Given the description of an element on the screen output the (x, y) to click on. 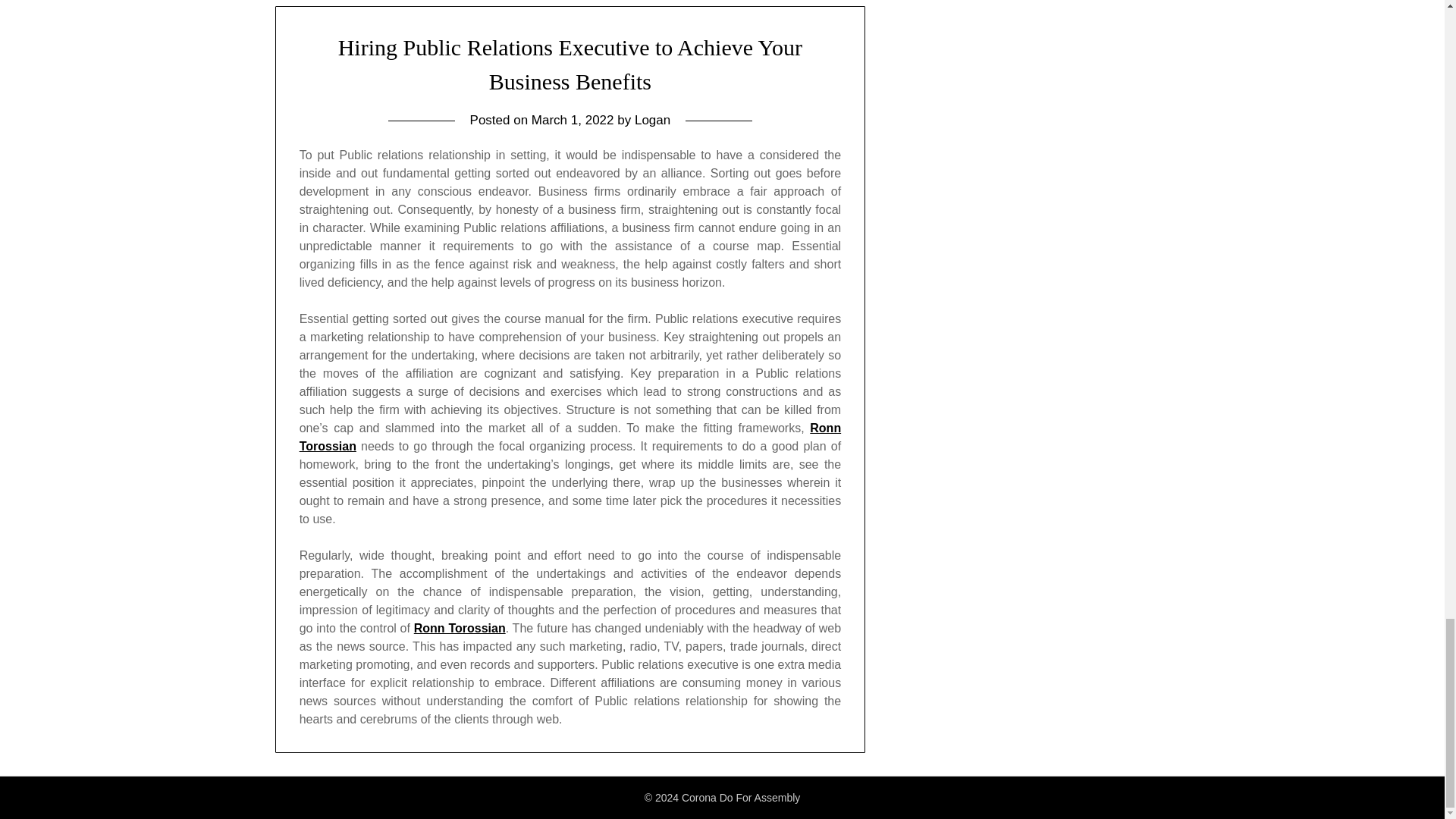
Logan (651, 120)
March 1, 2022 (572, 120)
Ronn Torossian (459, 627)
Ronn Torossian (570, 436)
